Given the description of an element on the screen output the (x, y) to click on. 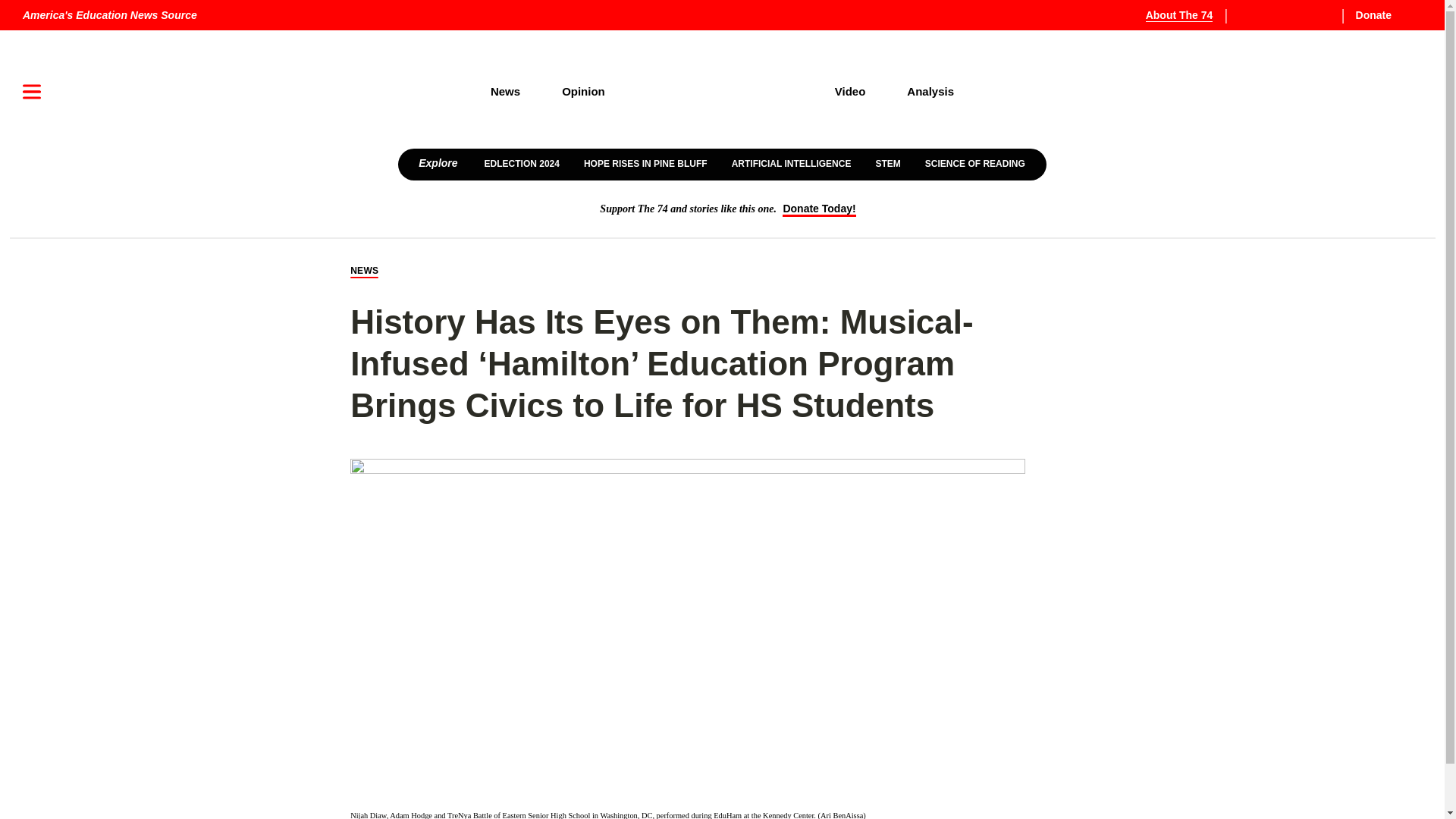
Home (719, 91)
Opinion (583, 91)
Donate (1385, 15)
News (504, 91)
Analysis (930, 91)
America's Education News Source (109, 15)
Submit (1389, 139)
About The 74 (1187, 15)
Video (849, 91)
